Given the description of an element on the screen output the (x, y) to click on. 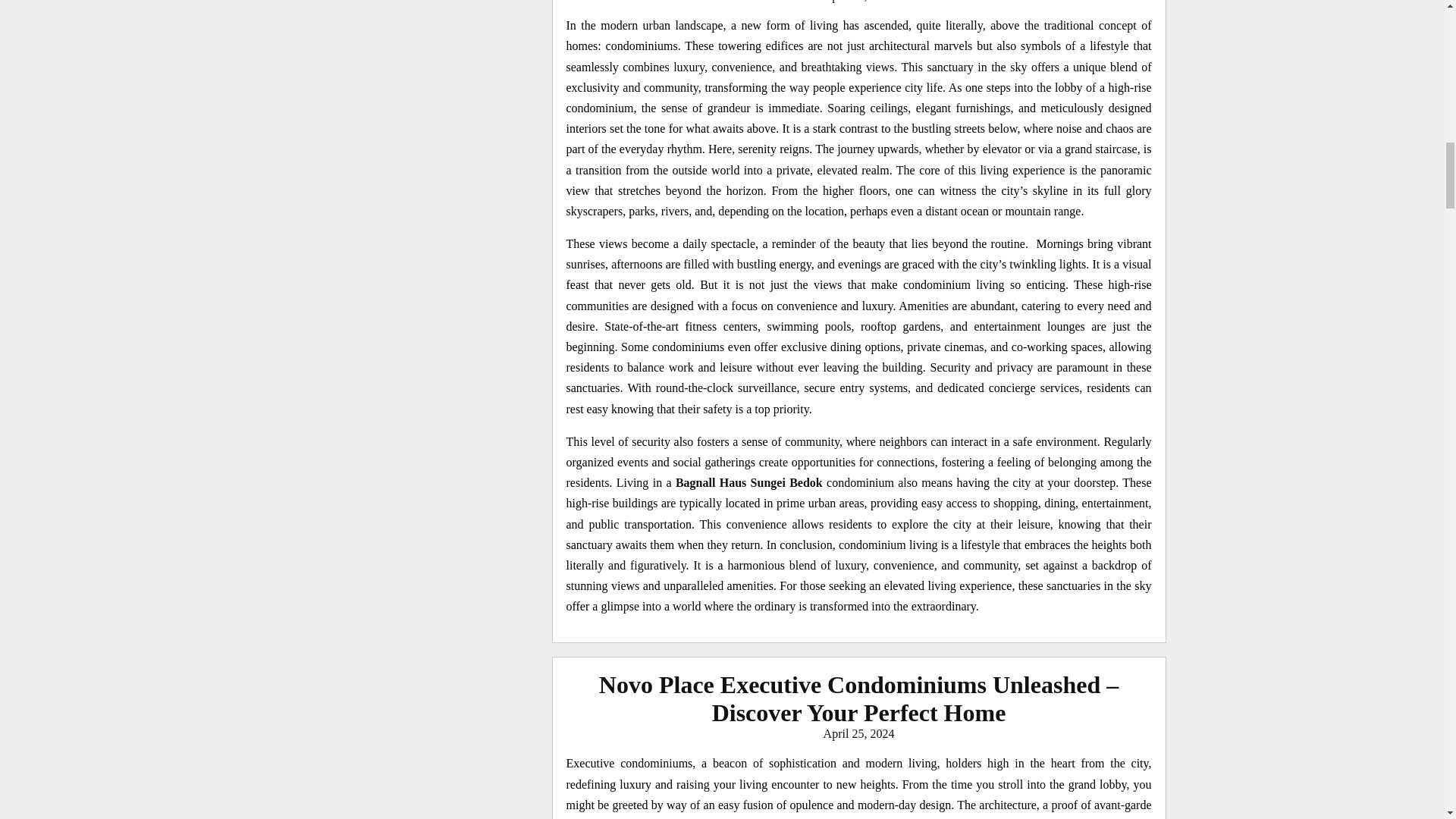
April 25, 2024 (859, 733)
April 28, 2024 (859, 1)
Bagnall Haus Sungei Bedok (748, 481)
